Given the description of an element on the screen output the (x, y) to click on. 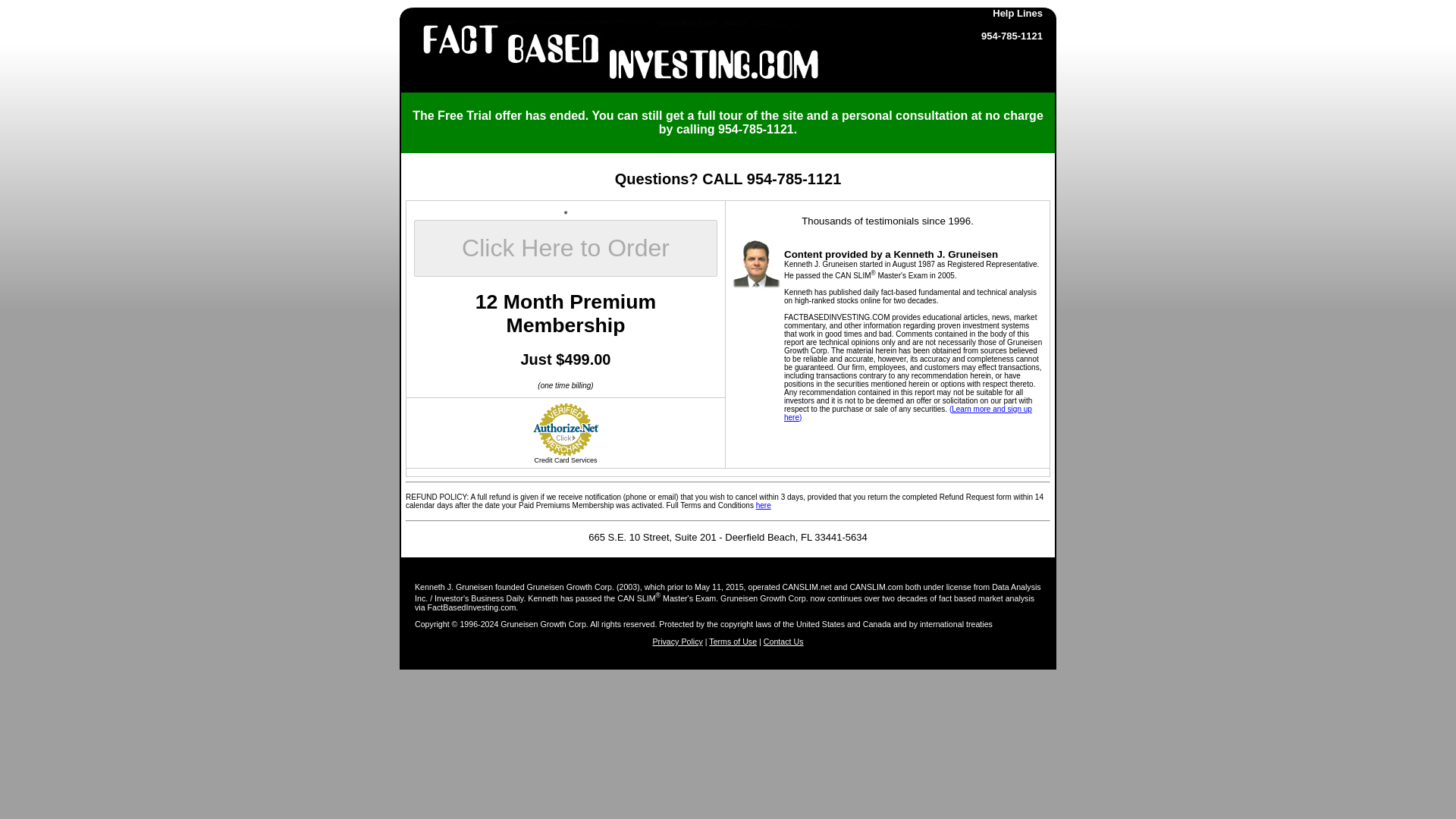
Terms of Use (733, 641)
954-785-1121 (1011, 35)
here (763, 505)
Privacy Policy (676, 641)
Click Here to Order (565, 248)
Contact Us (782, 641)
Credit Card Services (565, 460)
Click Here to Order (565, 248)
Help Lines (1017, 12)
